Given the description of an element on the screen output the (x, y) to click on. 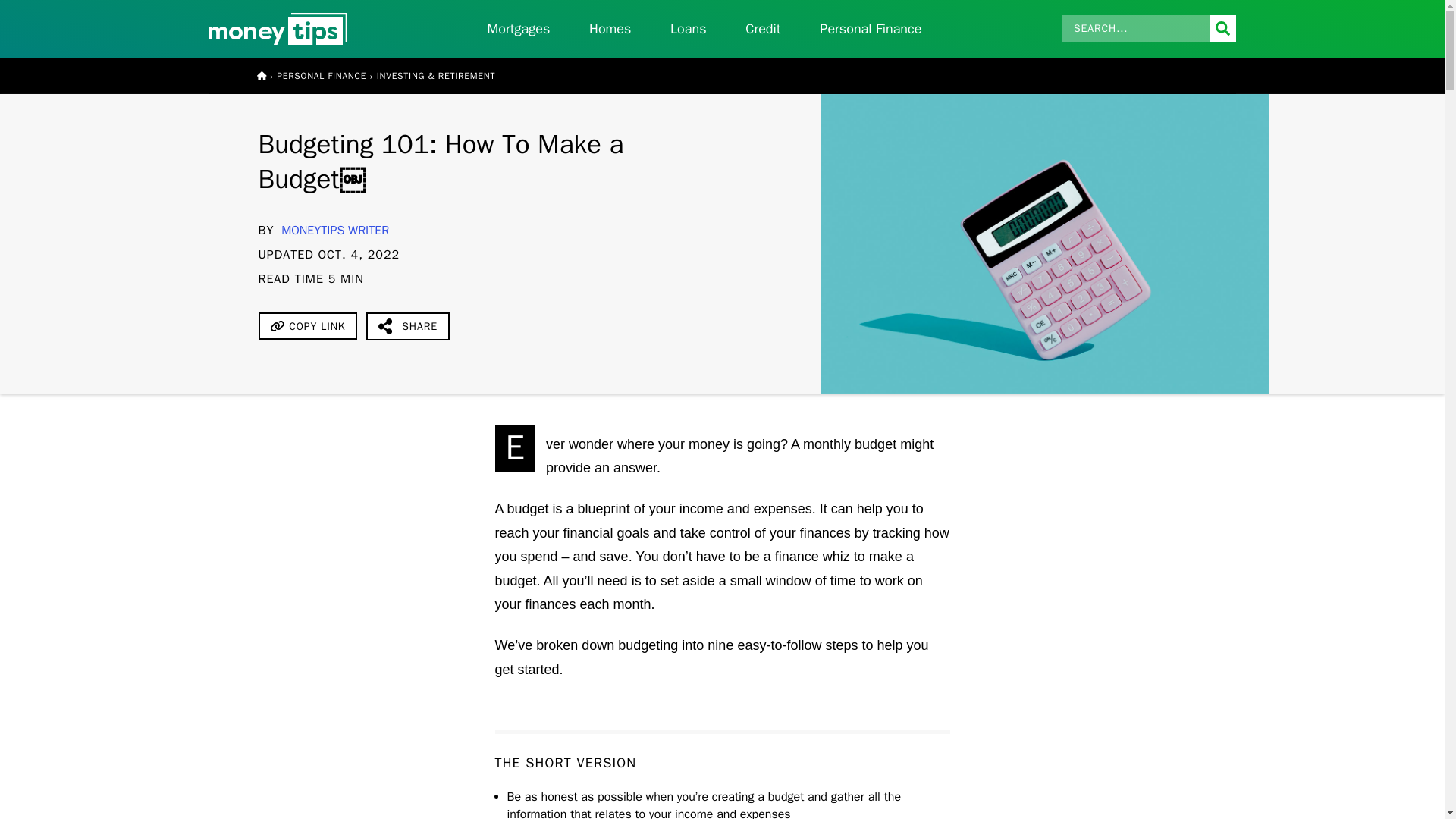
Copy Link (306, 325)
Credit (763, 28)
Loans (687, 28)
Submit Search (1222, 28)
Toggle Share Menu (407, 326)
Homes (609, 28)
Search MoneyTips (1148, 28)
Mortgages (517, 28)
